Given the description of an element on the screen output the (x, y) to click on. 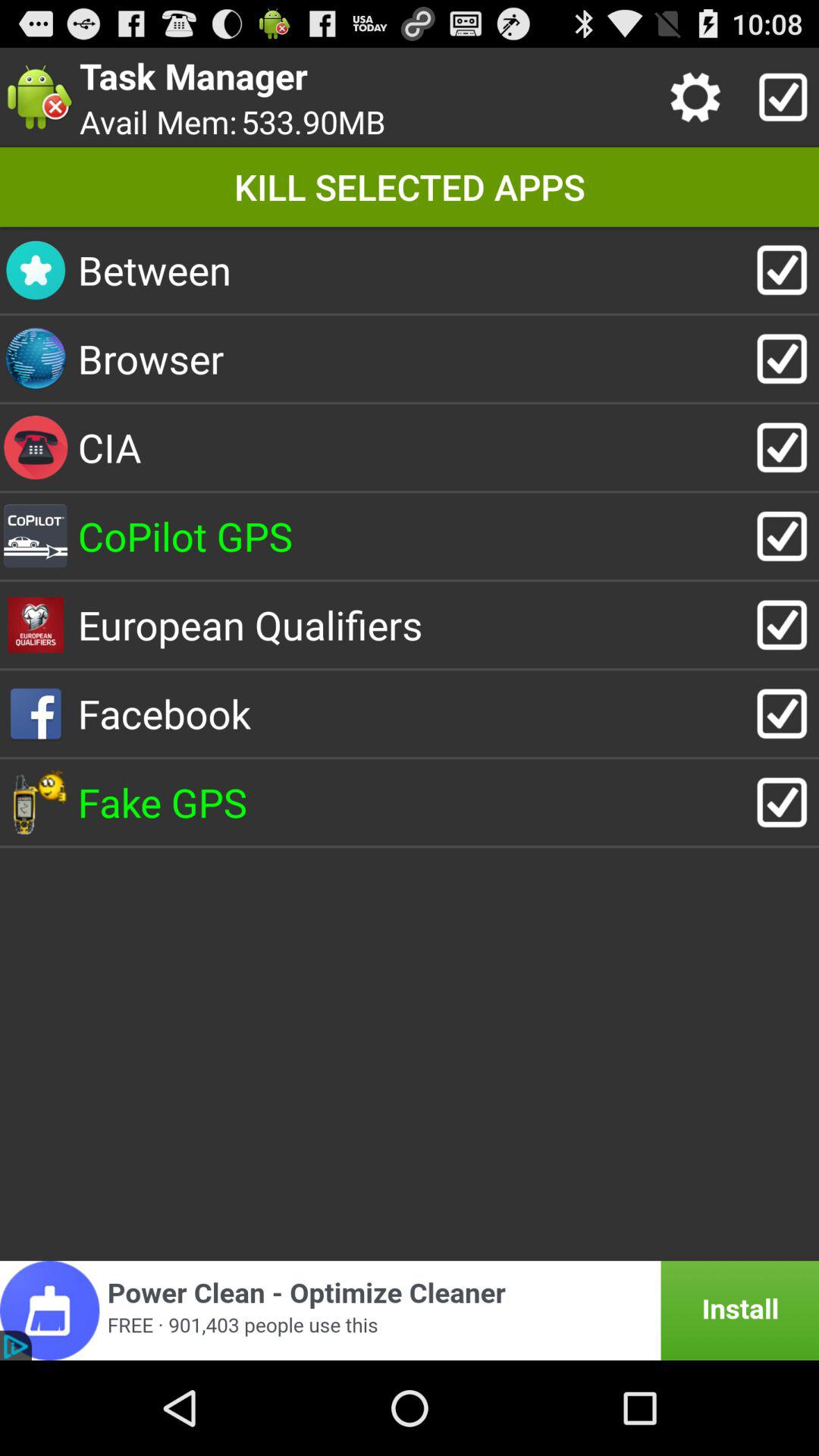
advertisement (409, 1310)
